Given the description of an element on the screen output the (x, y) to click on. 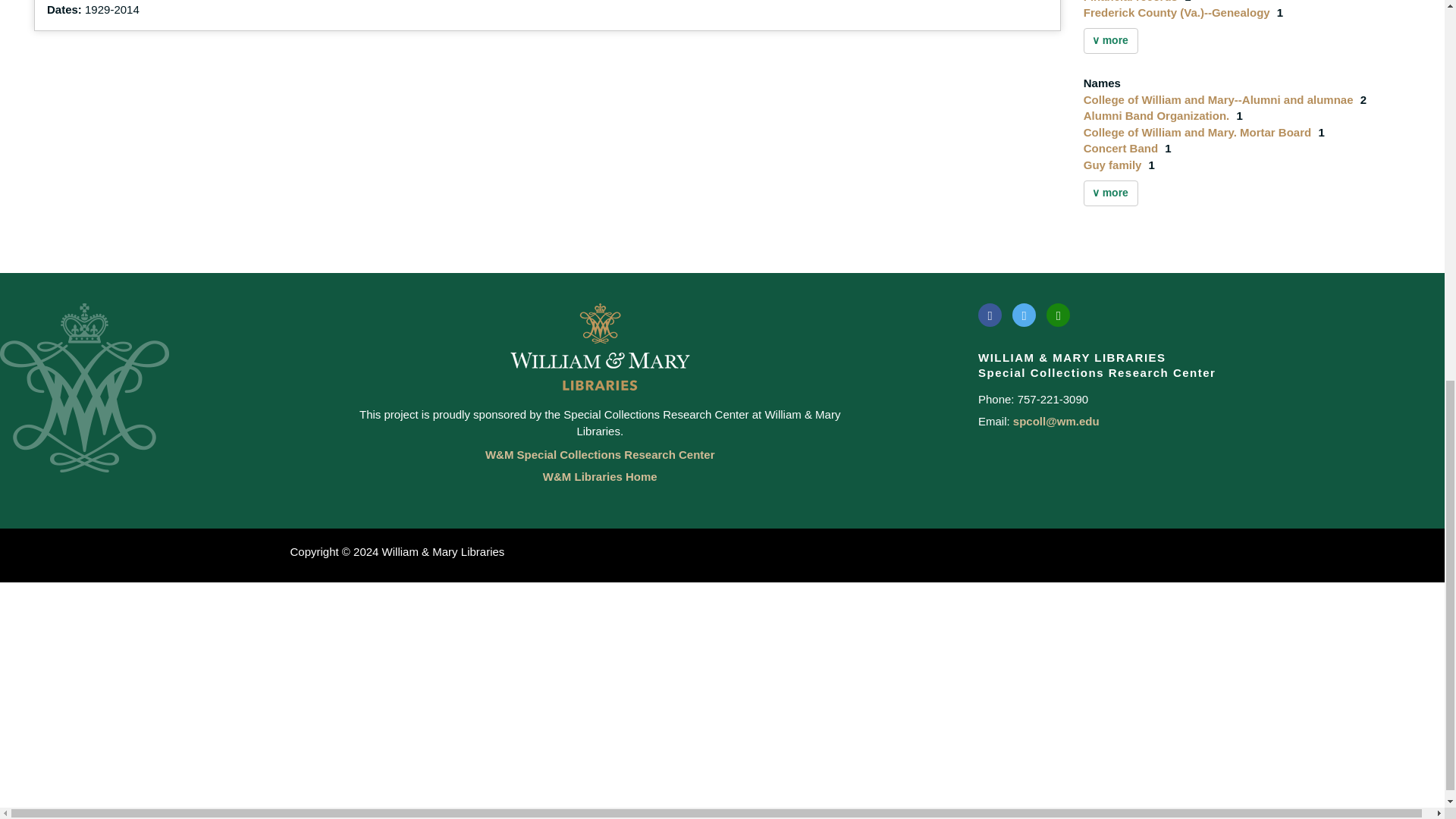
Financial records (1131, 1)
Filter By 'Financial records' (1131, 1)
